Given the description of an element on the screen output the (x, y) to click on. 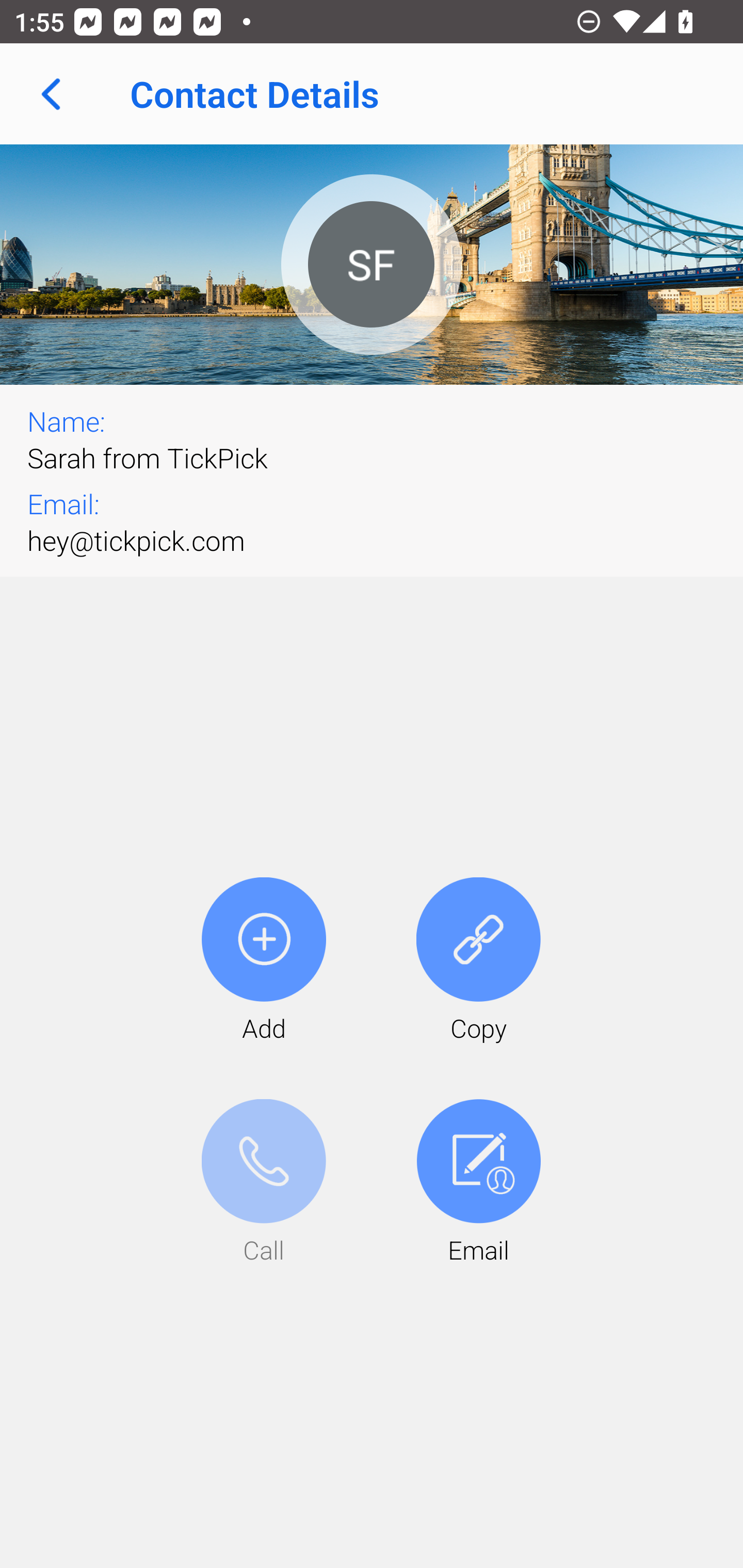
Navigate up (50, 93)
Add (264, 961)
Copy (478, 961)
Call (264, 1182)
Email (478, 1182)
